Given the description of an element on the screen output the (x, y) to click on. 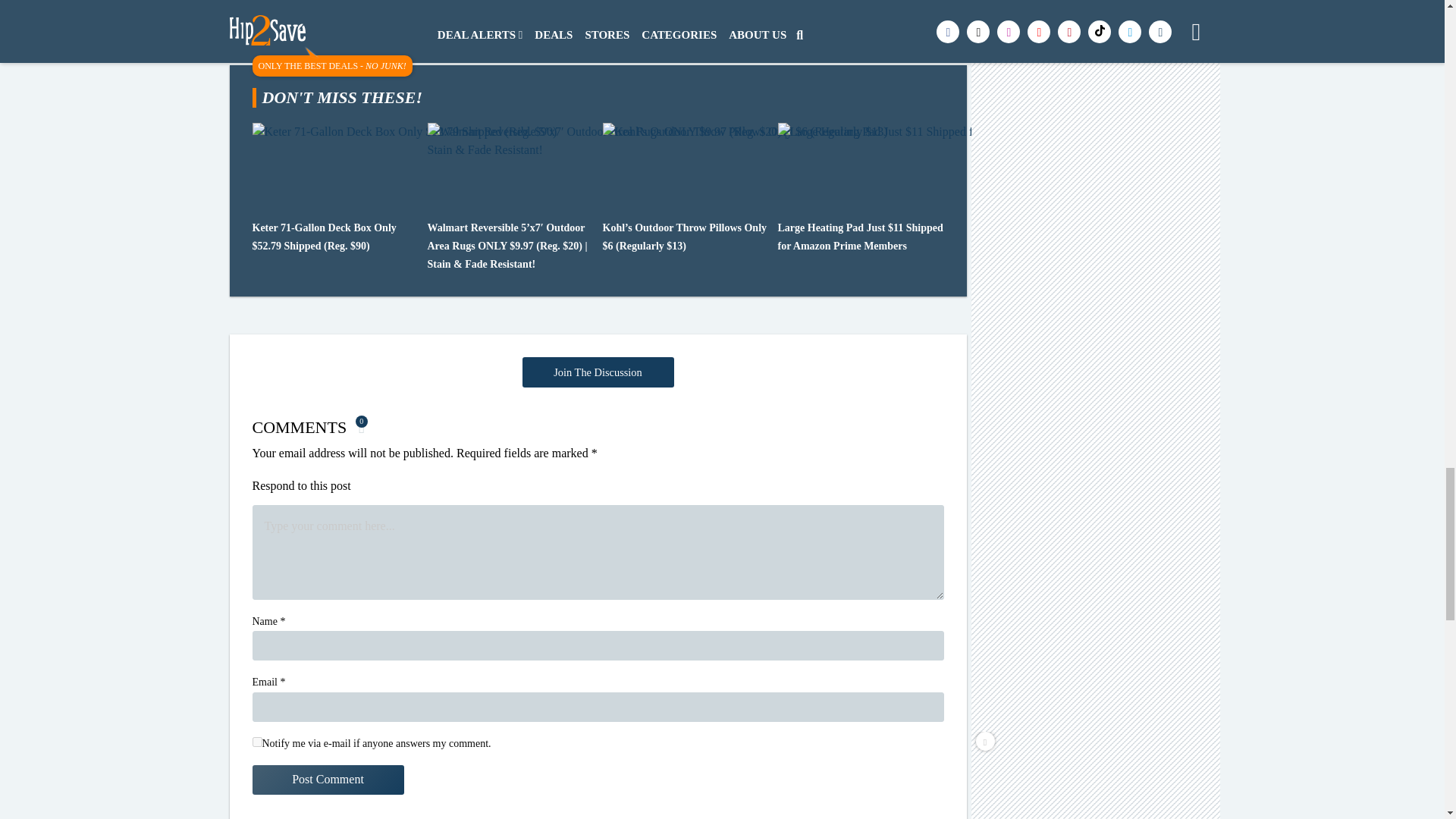
Post Comment (327, 779)
on (256, 741)
